Given the description of an element on the screen output the (x, y) to click on. 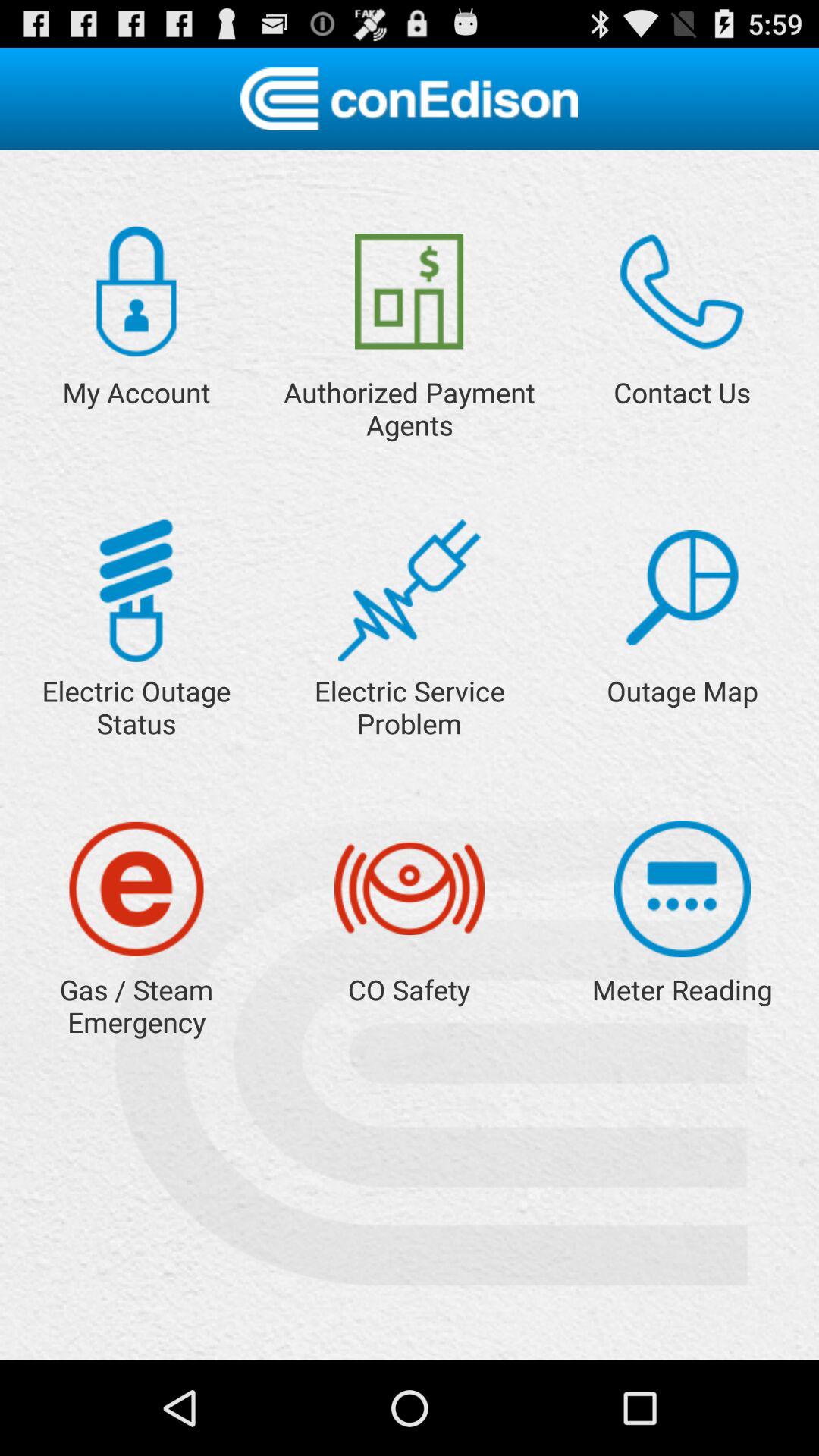
my account settings (136, 291)
